Given the description of an element on the screen output the (x, y) to click on. 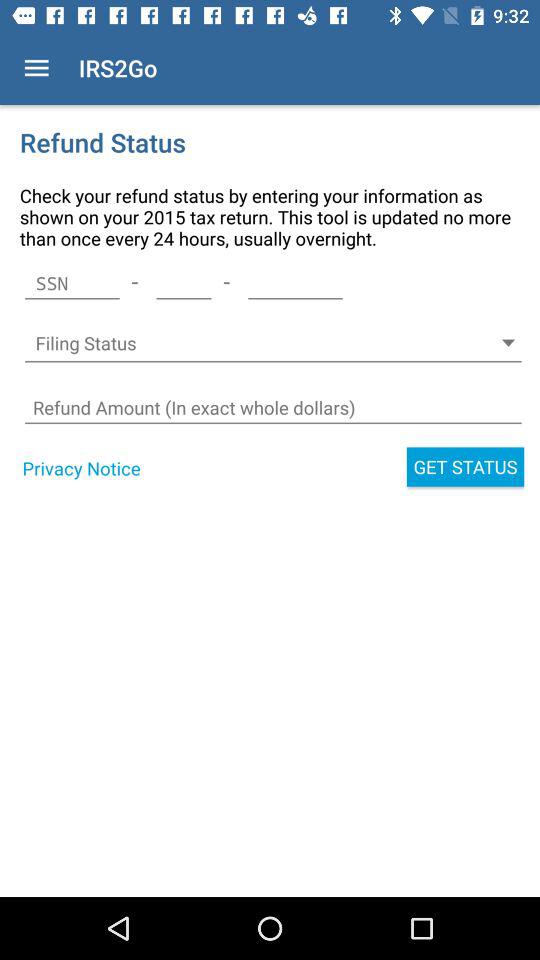
turn off the icon above the refund status item (36, 68)
